Given the description of an element on the screen output the (x, y) to click on. 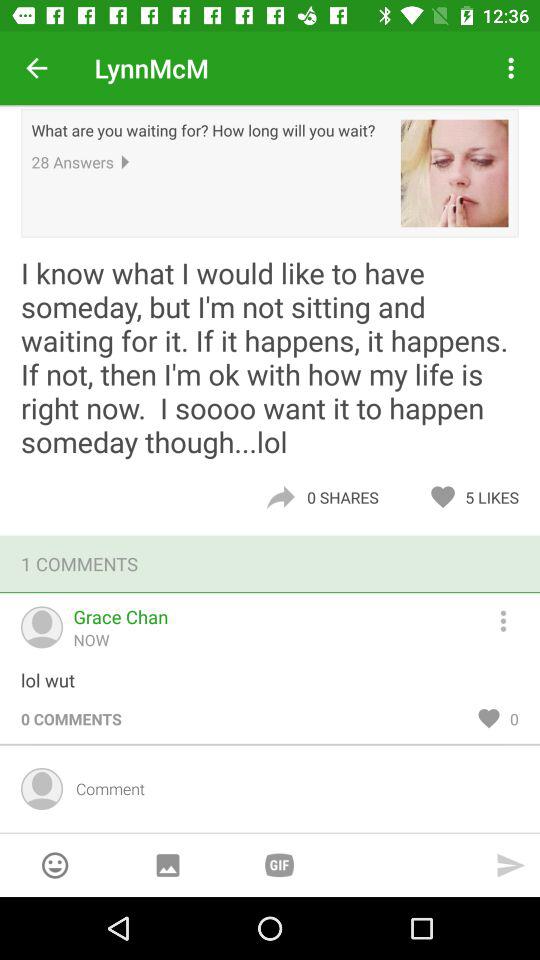
turn off icon to the left of lynnmcm icon (36, 68)
